Given the description of an element on the screen output the (x, y) to click on. 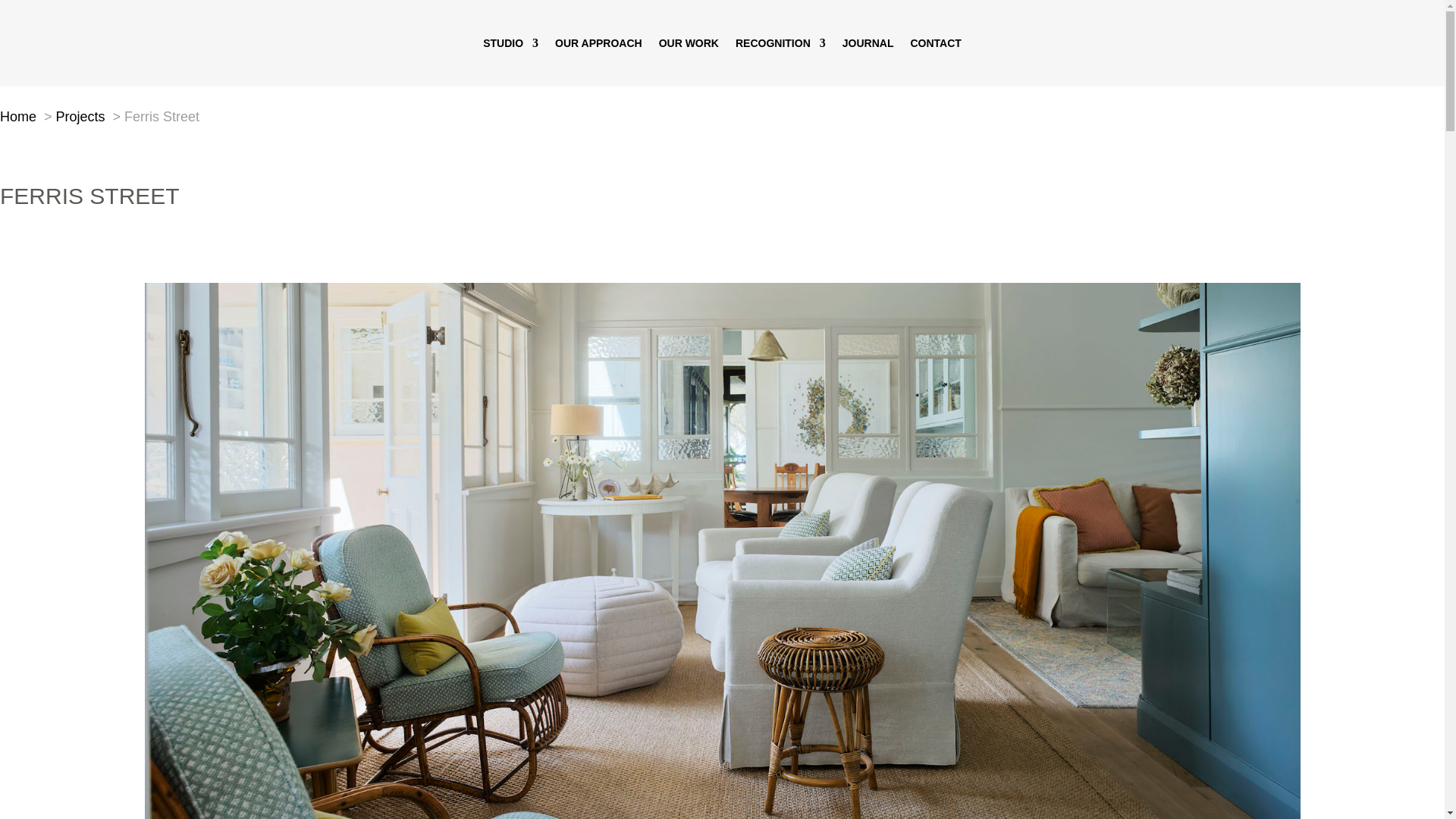
OUR WORK (689, 43)
Projects (80, 116)
STUDIO (510, 43)
Home (18, 116)
JOURNAL (868, 43)
RECOGNITION (780, 43)
OUR APPROACH (598, 43)
